Given the description of an element on the screen output the (x, y) to click on. 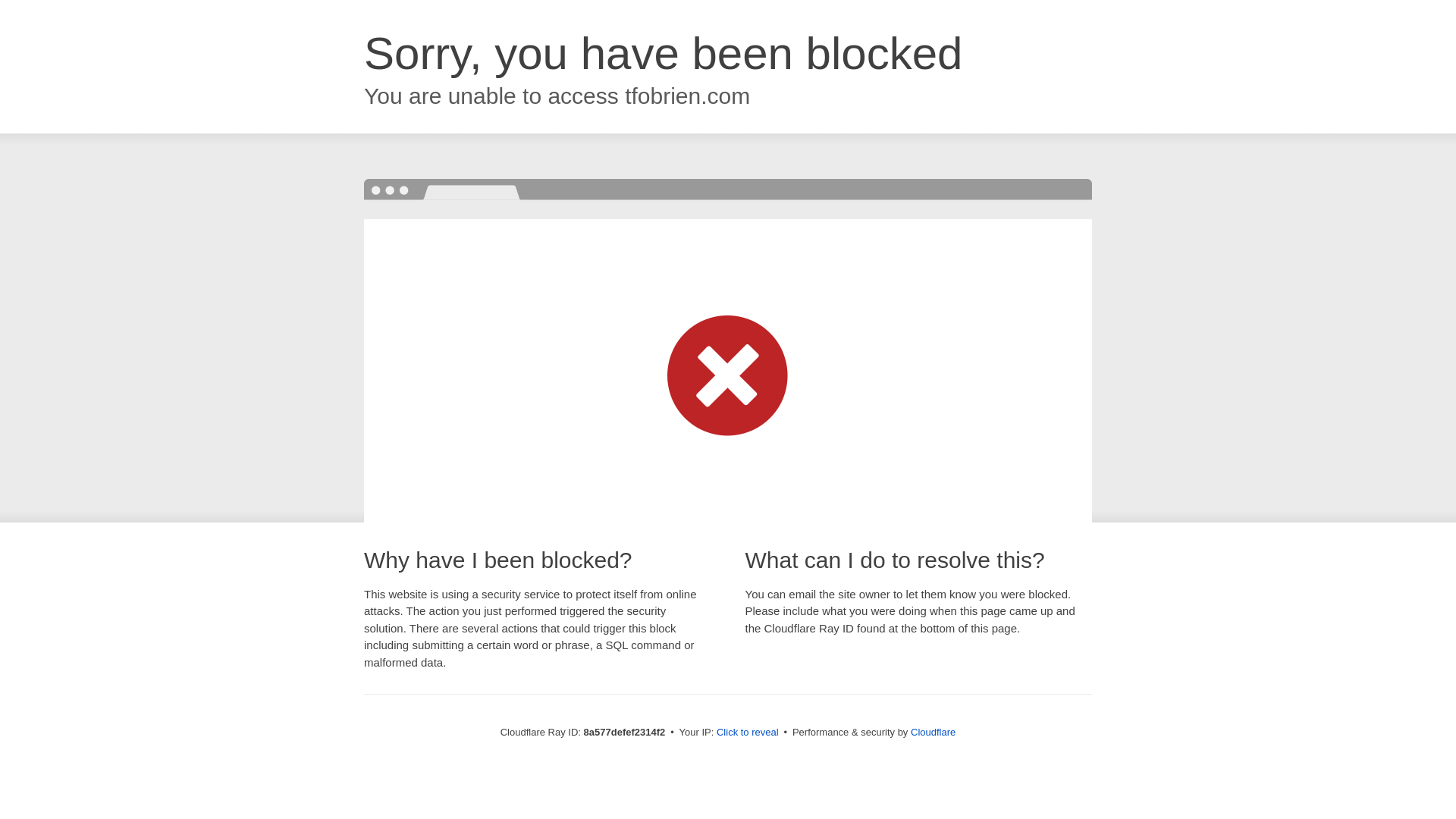
Click to reveal (747, 732)
Cloudflare (933, 731)
